Given the description of an element on the screen output the (x, y) to click on. 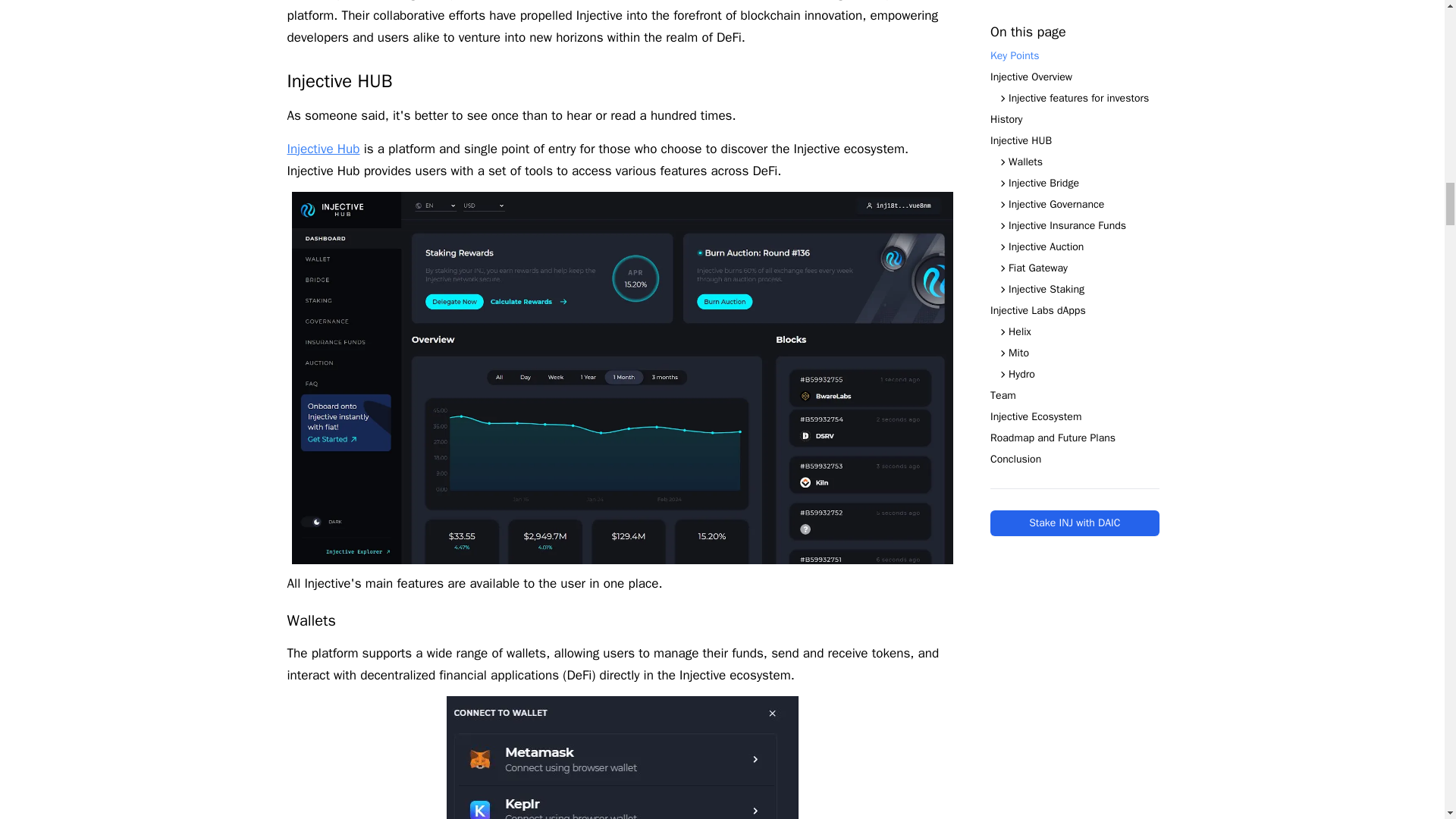
Injective Hub (322, 148)
